Given the description of an element on the screen output the (x, y) to click on. 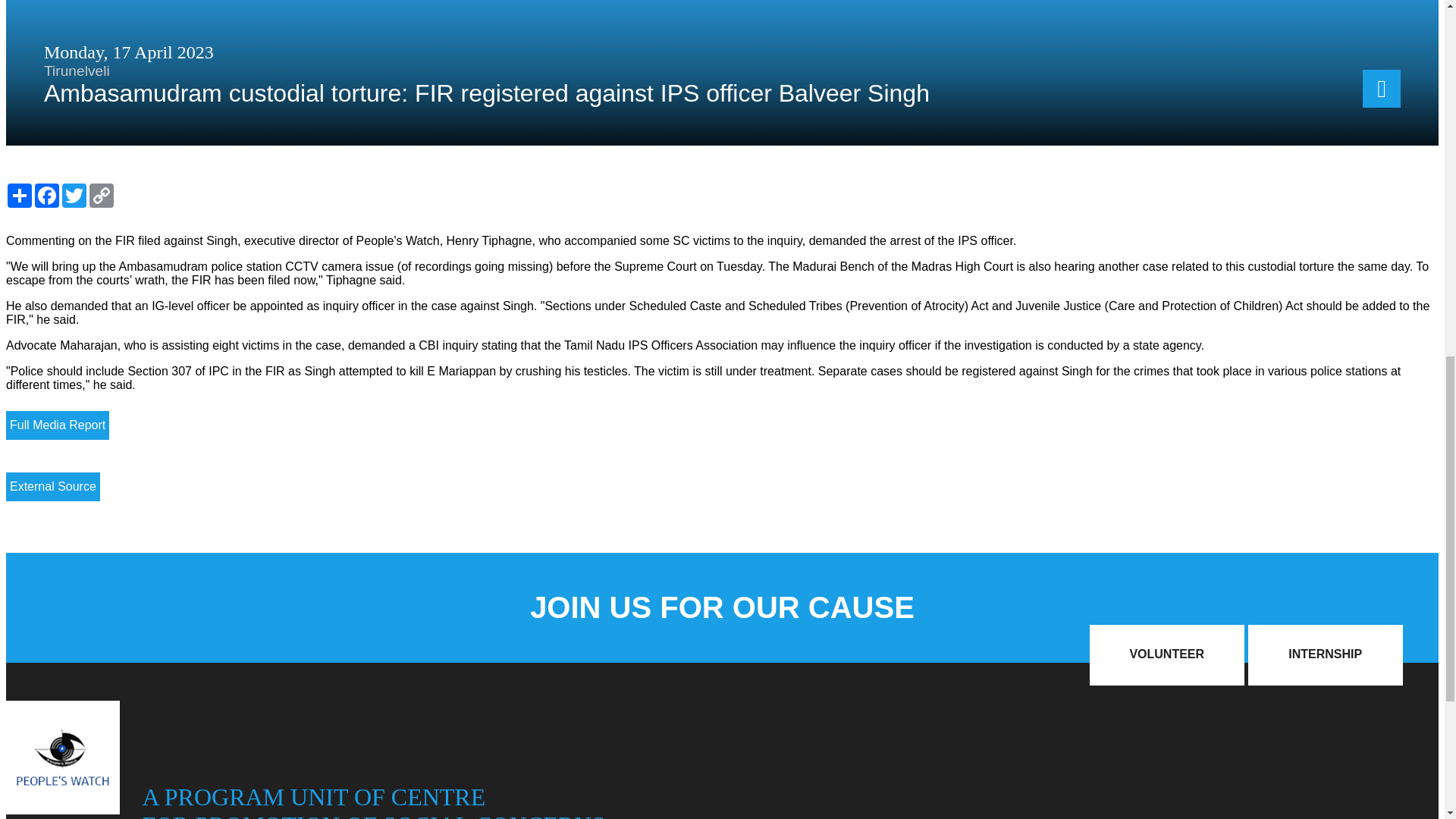
External Source (53, 486)
Copy Link (101, 195)
Share (19, 195)
VOLUNTEER (1166, 654)
Full Media Report (57, 425)
Facebook (47, 195)
Home (62, 809)
Twitter (74, 195)
INTERNSHIP (1325, 654)
